Given the description of an element on the screen output the (x, y) to click on. 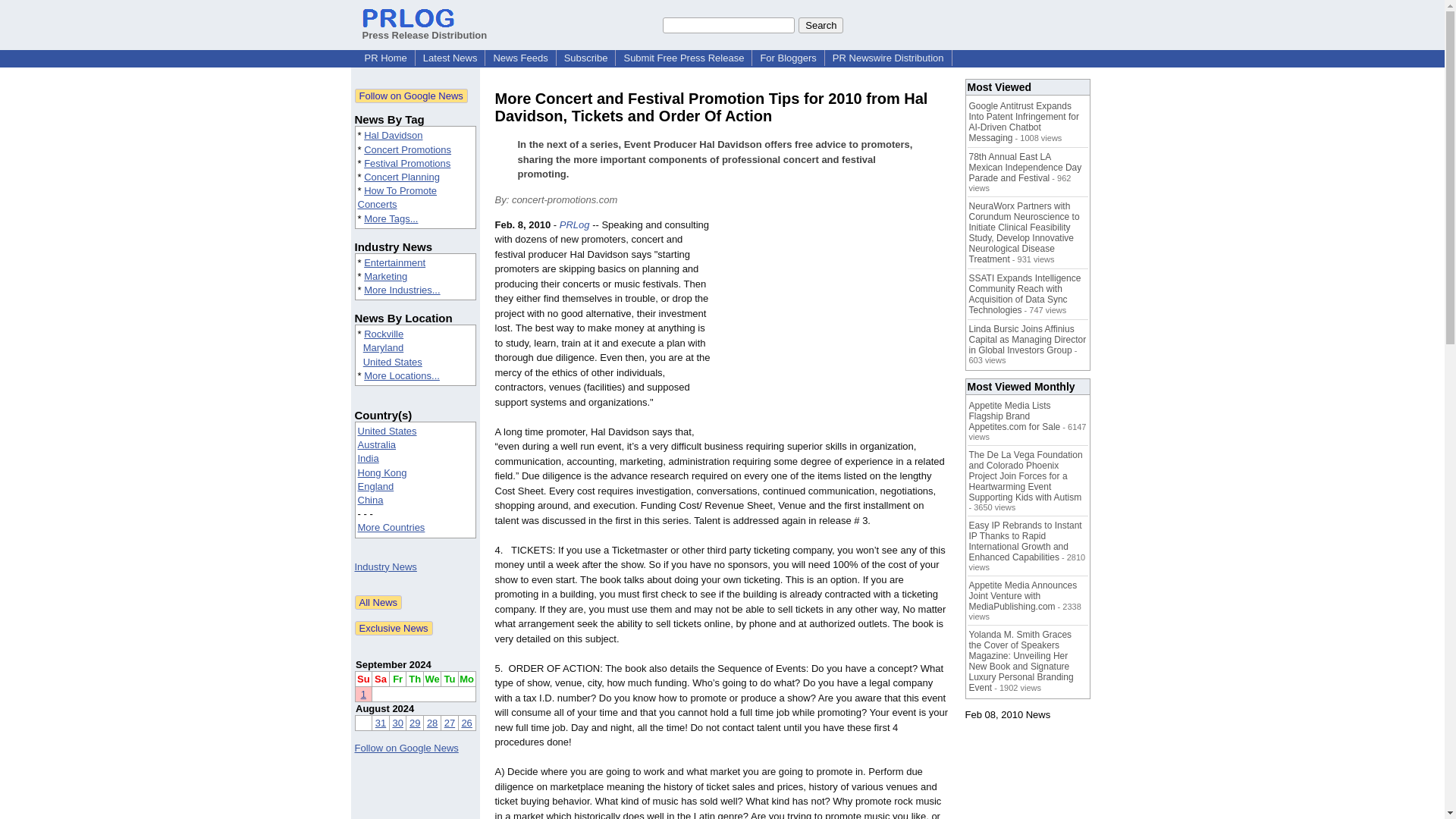
Latest News (449, 57)
More Locations... (401, 375)
Hong Kong (382, 472)
Concert Planning (401, 176)
News Feeds (519, 57)
Exclusive News (393, 627)
Entertainment (394, 262)
Australia (377, 444)
United States (387, 430)
29 (414, 722)
